Given the description of an element on the screen output the (x, y) to click on. 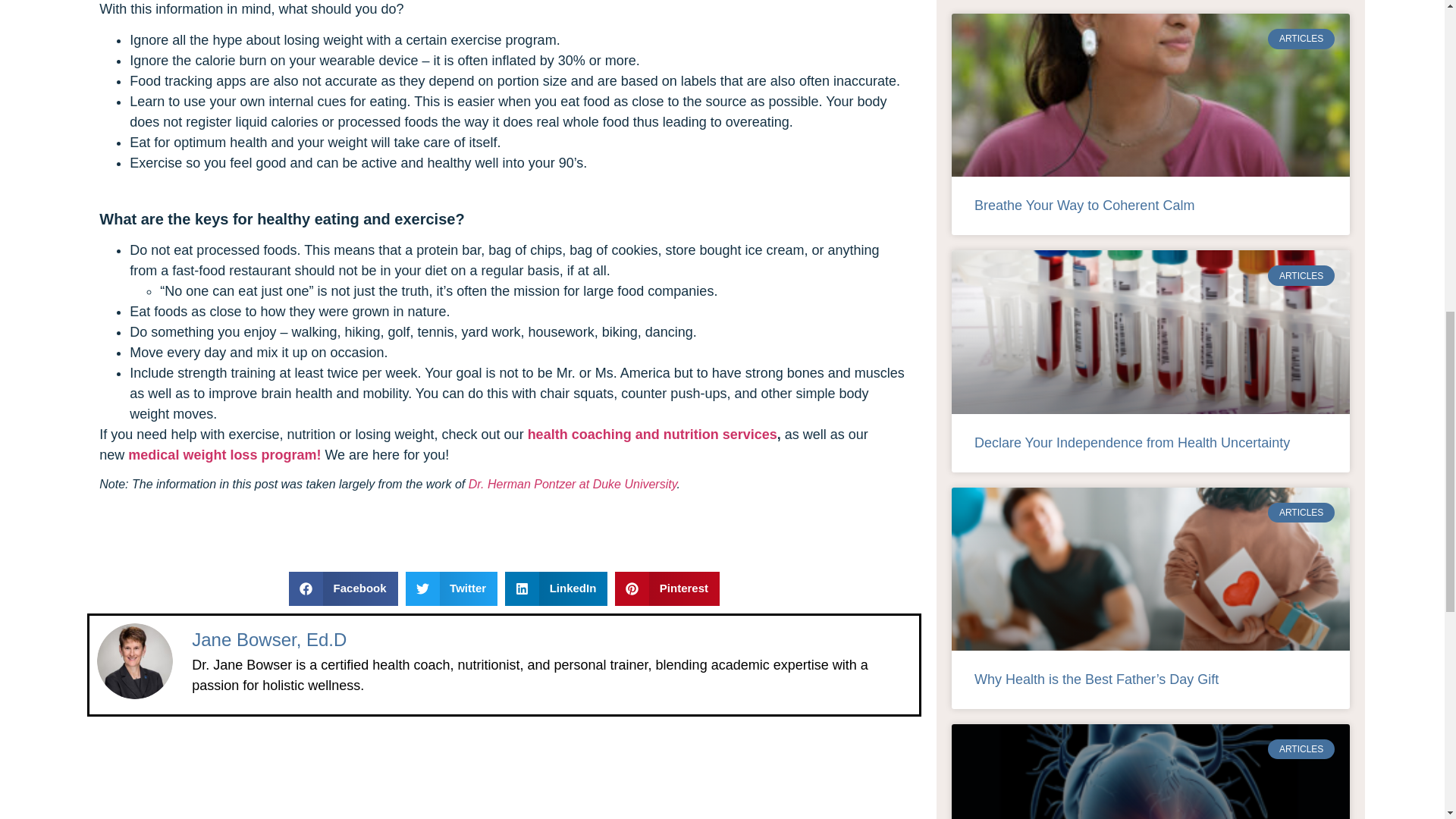
health coaching and nutrition services (652, 434)
medical weight loss program! (224, 454)
Dr. Herman Pontzer at Duke University (572, 483)
